Given the description of an element on the screen output the (x, y) to click on. 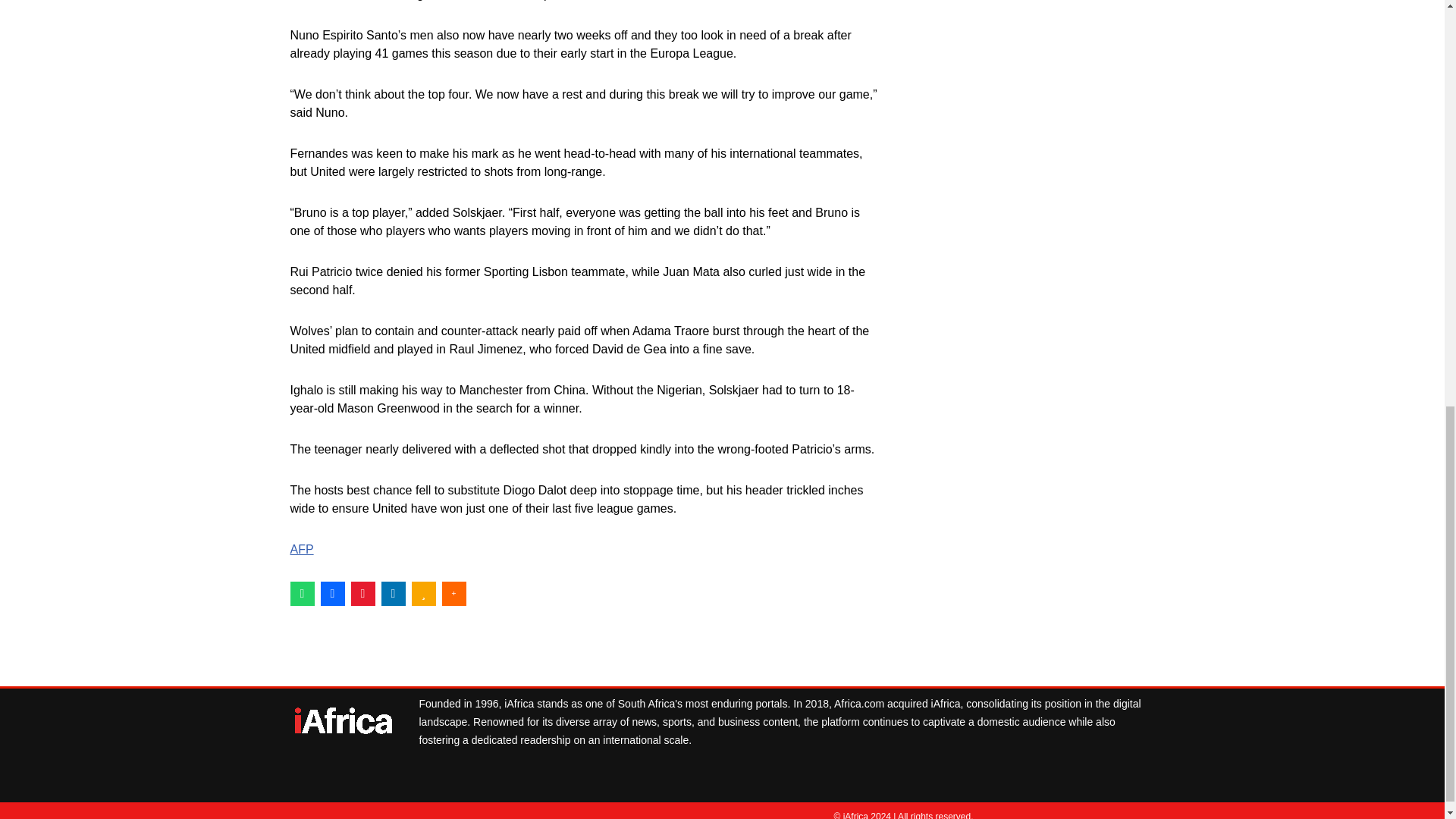
Convert to PDF (362, 592)
More share links (453, 592)
WhatsApp (301, 592)
Share this on Facebook (331, 592)
Add to favorites (422, 592)
Add this to LinkedIn (392, 592)
AFP (301, 549)
